Given the description of an element on the screen output the (x, y) to click on. 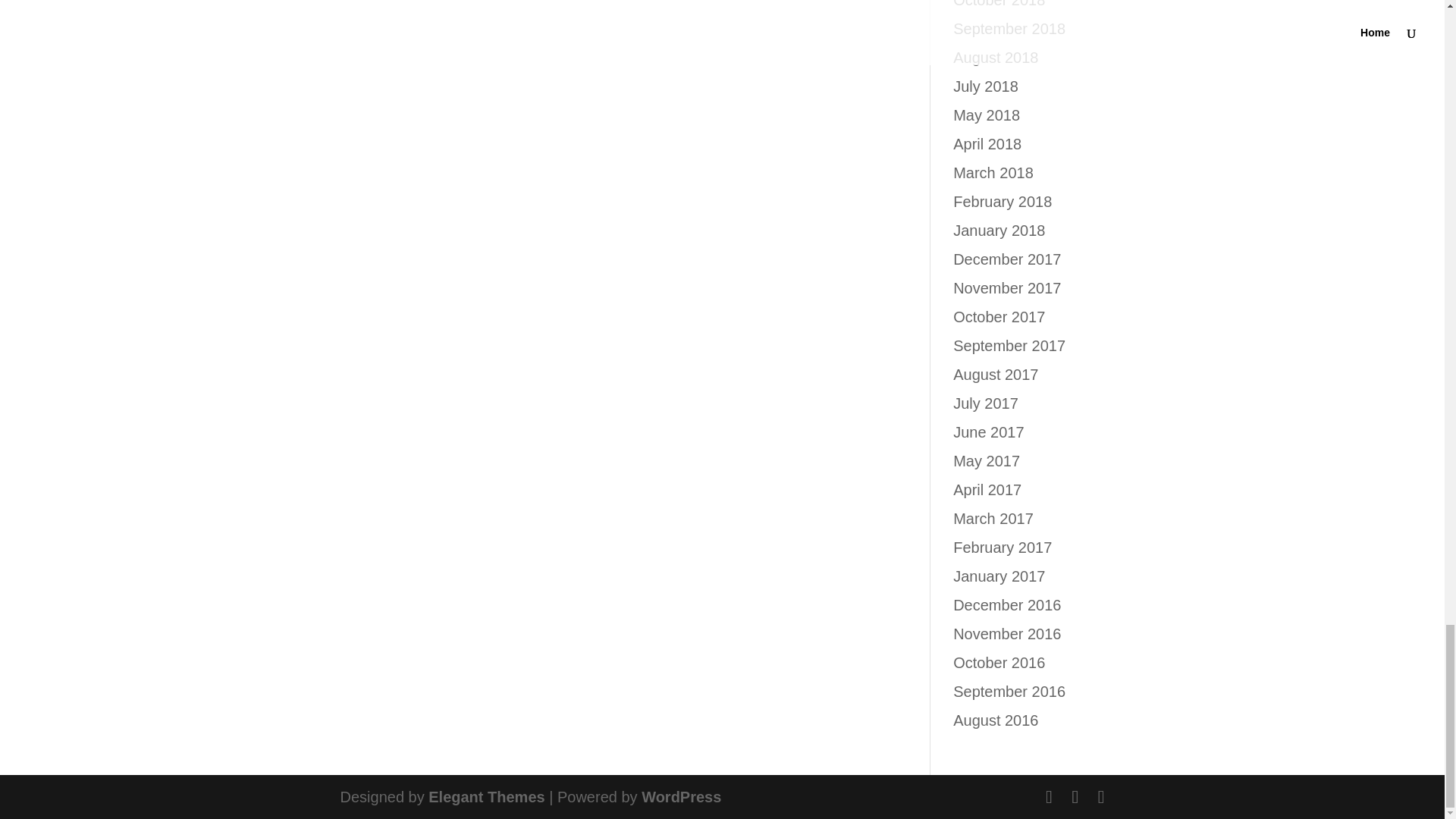
Premium WordPress Themes (486, 796)
